Given the description of an element on the screen output the (x, y) to click on. 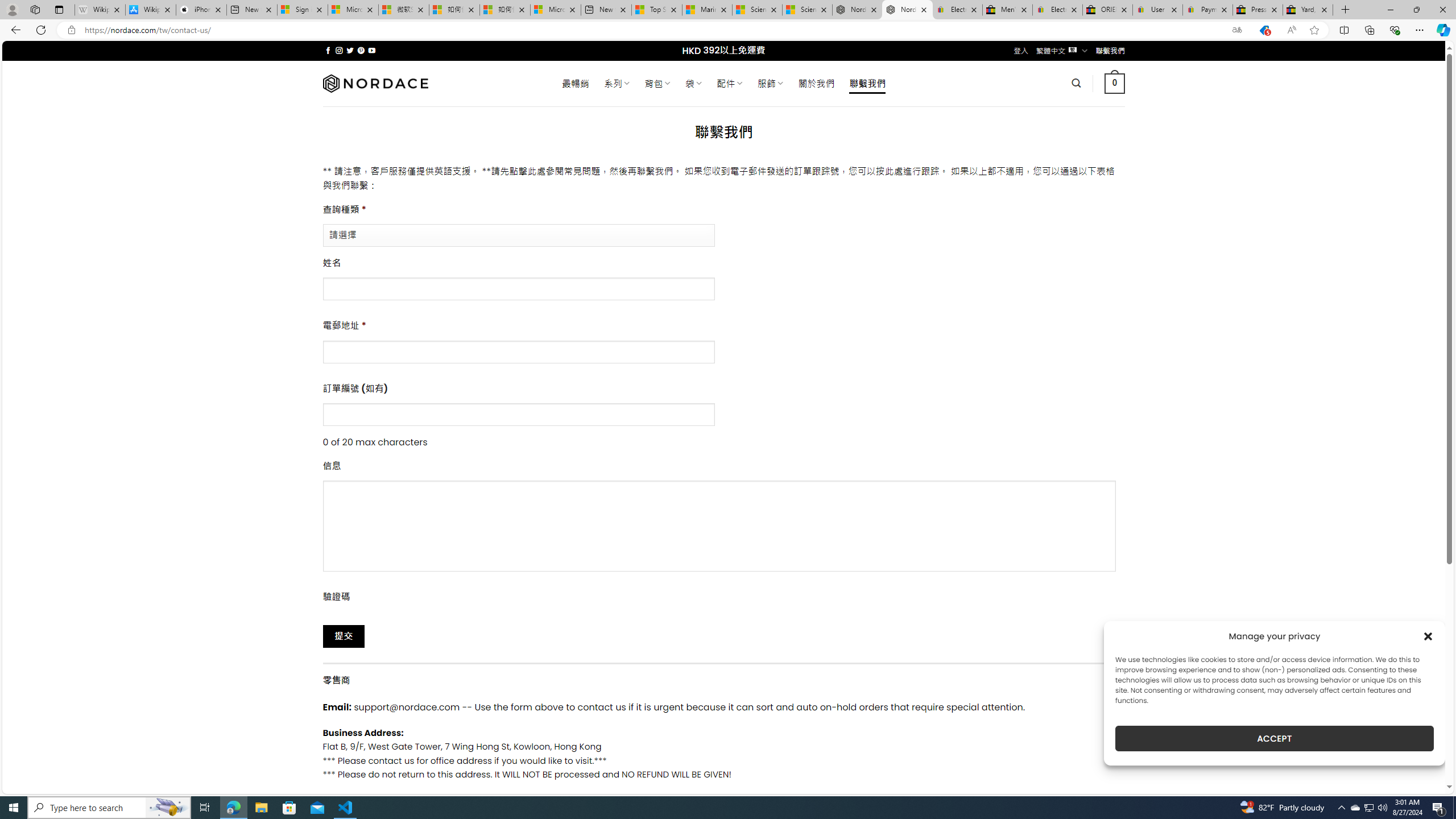
Class: cmplz-close (1428, 636)
iPhone - Apple (201, 9)
Follow on Instagram (338, 50)
This site has coupons! Shopping in Microsoft Edge, 5 (1263, 29)
